Given the description of an element on the screen output the (x, y) to click on. 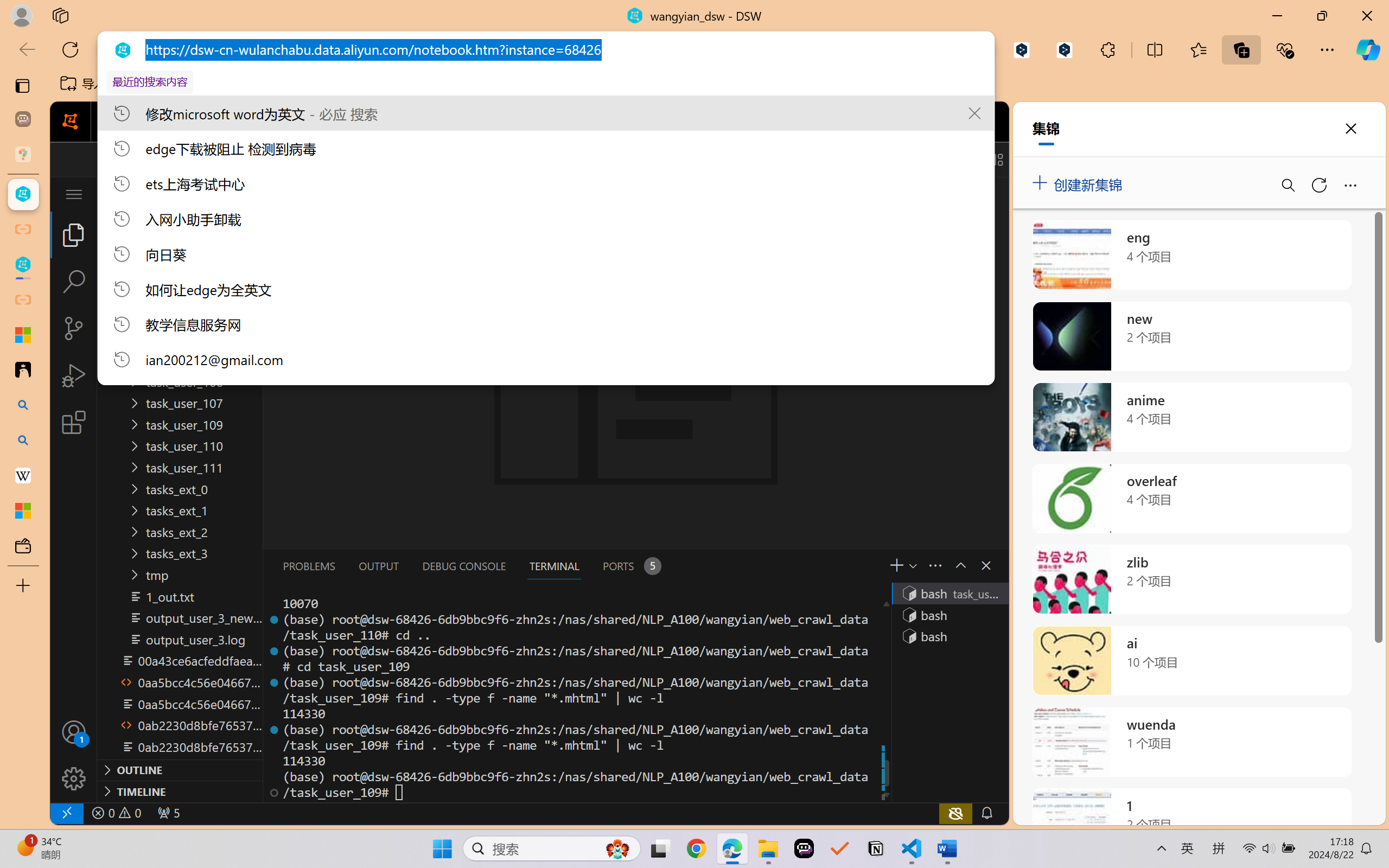
Class: actions-container (974, 565)
Terminal (568, 121)
Timeline Section (179, 791)
Toggle Primary Side Bar (Ctrl+B) (919, 159)
Views and More Actions... (934, 565)
